Given the description of an element on the screen output the (x, y) to click on. 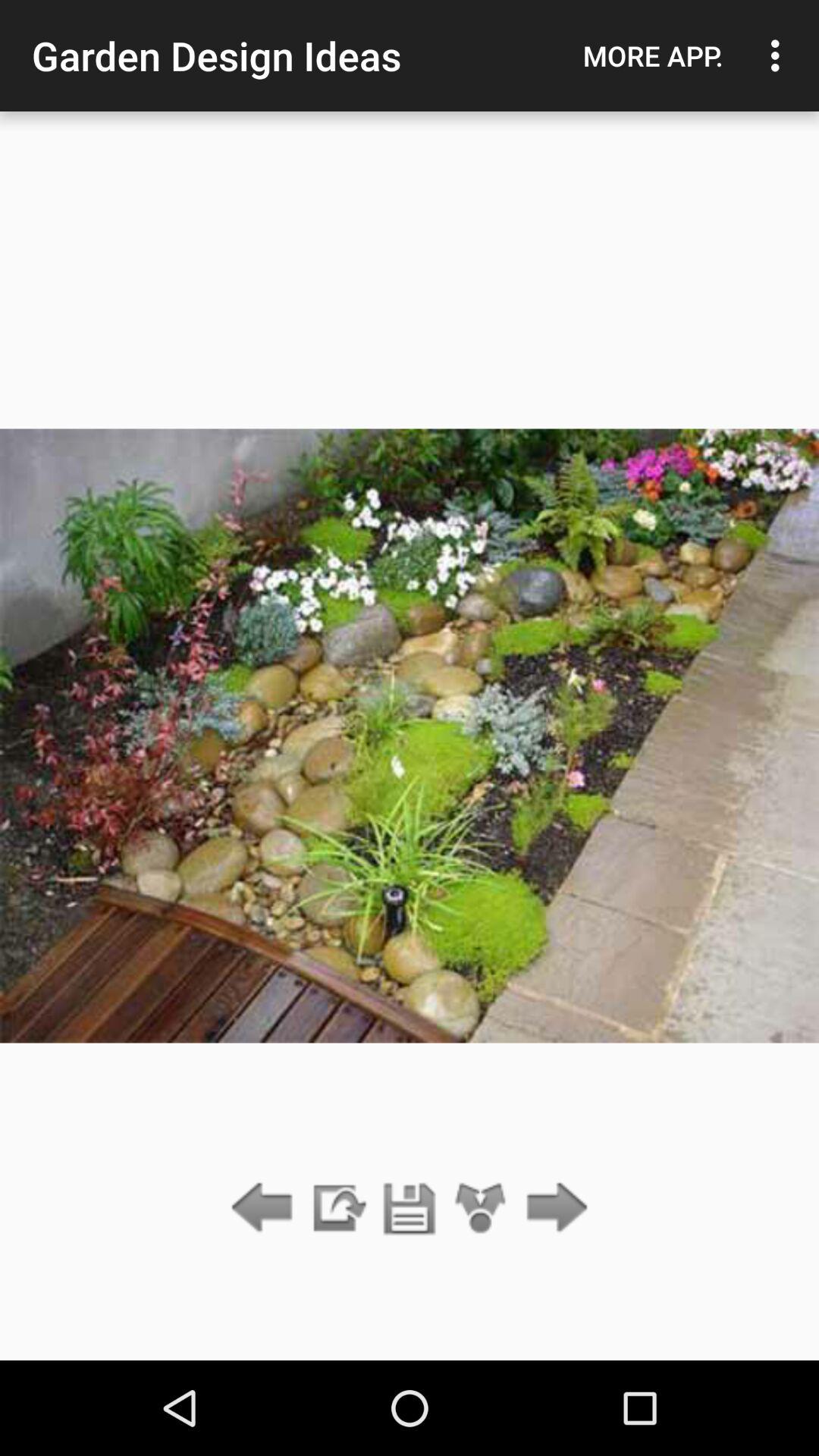
shows previous option (266, 1209)
